Given the description of an element on the screen output the (x, y) to click on. 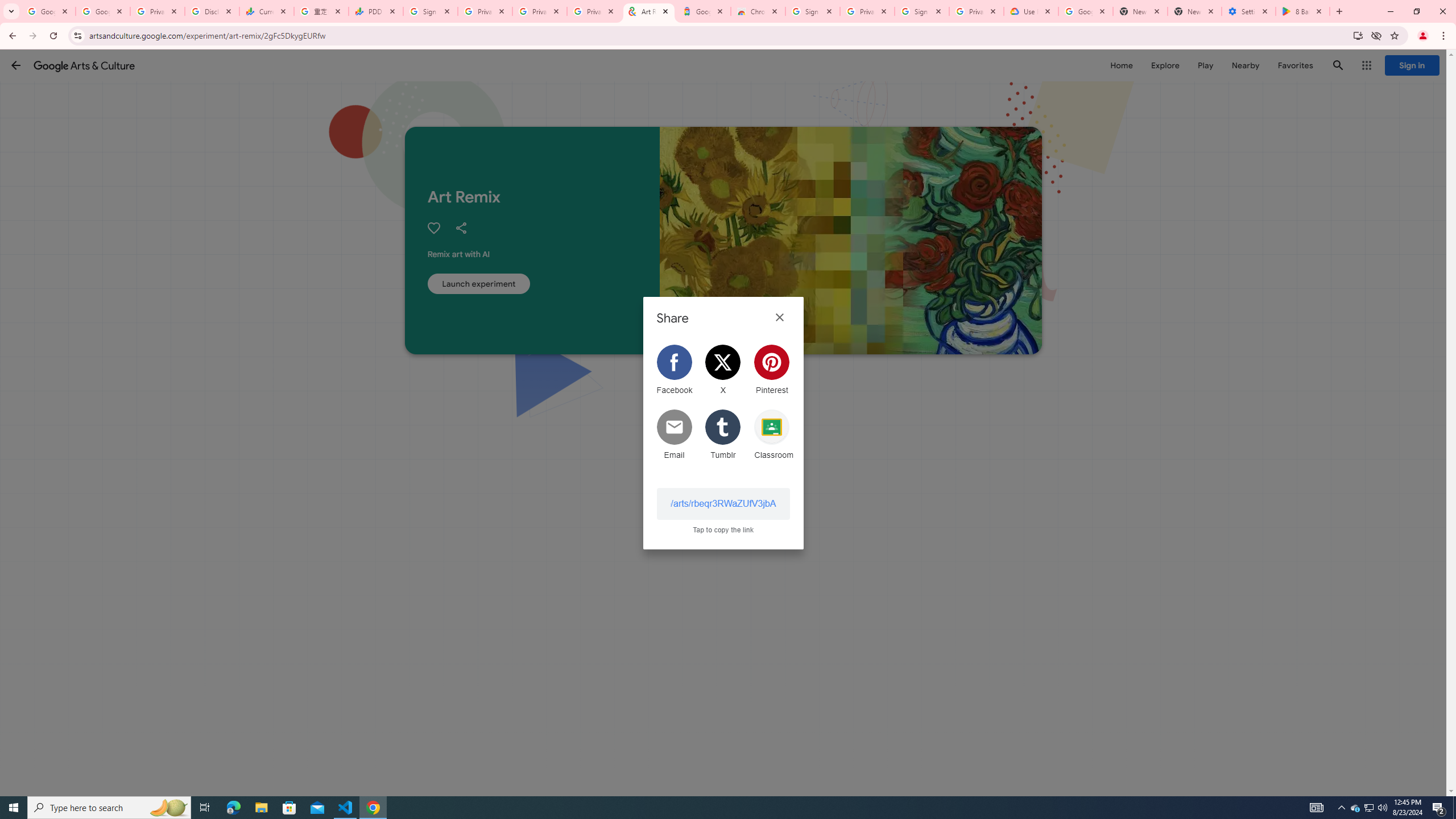
Share on Pinterest (772, 369)
Favorites (1295, 65)
Share on Classroom (772, 434)
Share on Facebook (673, 369)
PDD Holdings Inc - ADR (PDD) Price & News - Google Finance (375, 11)
Share on Tumblr (722, 434)
Google Arts & Culture (84, 65)
